Given the description of an element on the screen output the (x, y) to click on. 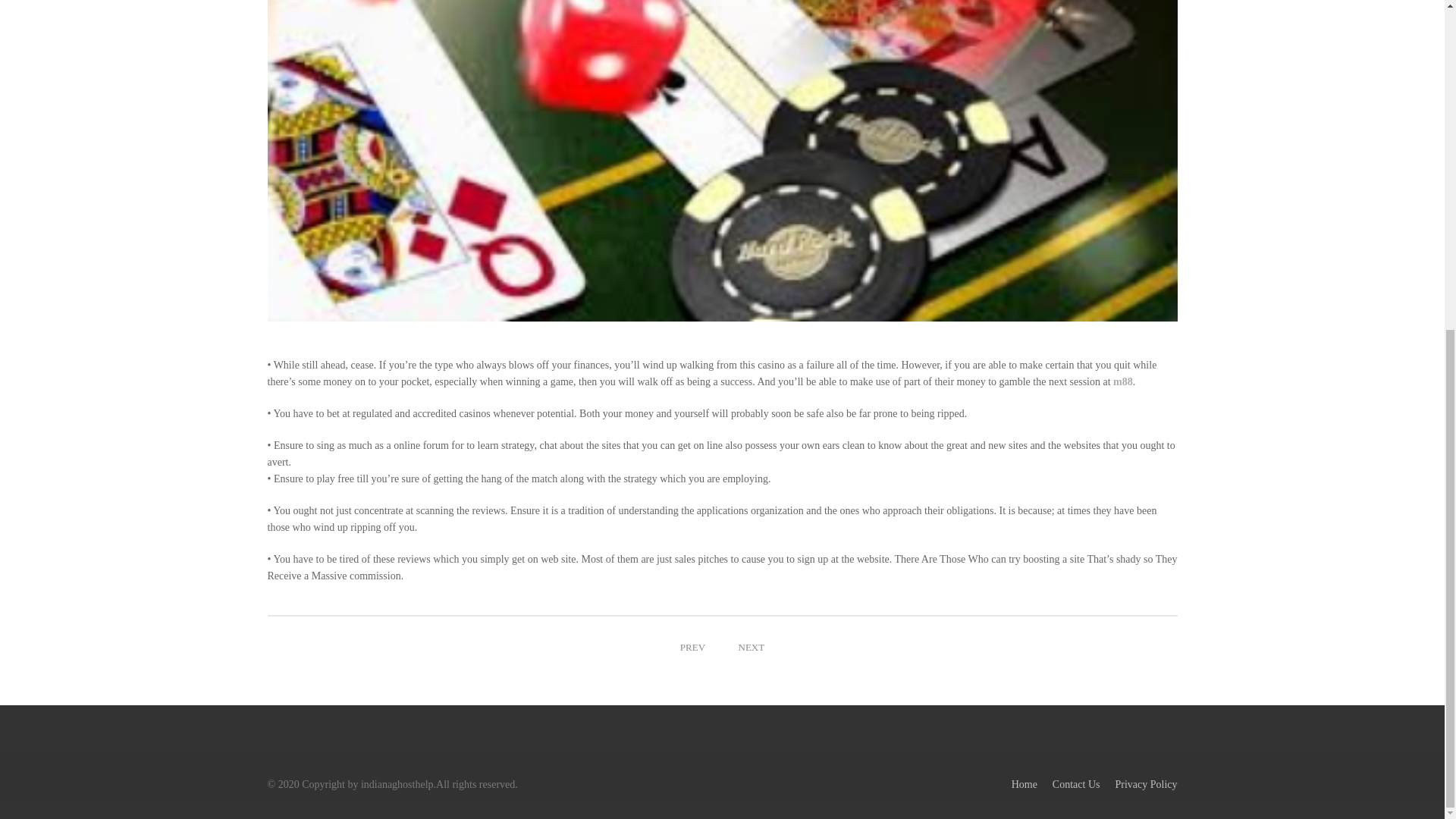
Home (1023, 784)
NEXT (751, 647)
Contact Us (1076, 784)
Privacy Policy (1145, 784)
m88 (1122, 381)
Home (1023, 784)
PREV (692, 647)
